Given the description of an element on the screen output the (x, y) to click on. 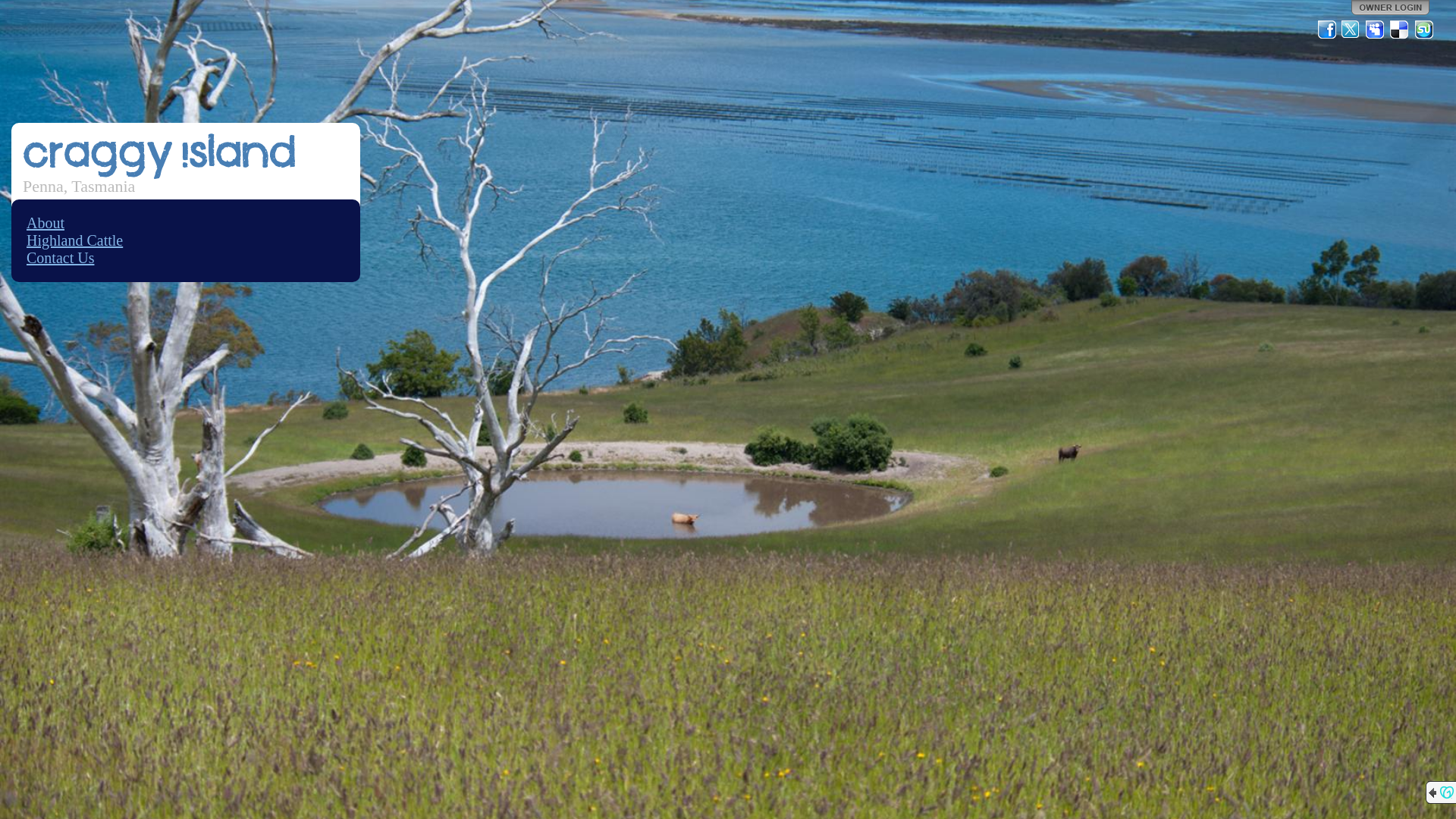
Contact Us Element type: text (60, 257)
StumbleUpon Element type: text (1423, 29)
Twitter Element type: text (1350, 29)
About Element type: text (45, 222)
Highland Cattle Element type: text (74, 240)
Facebook Element type: text (1326, 29)
MySpace Element type: text (1375, 29)
Del.icio.us Element type: text (1399, 29)
